Given the description of an element on the screen output the (x, y) to click on. 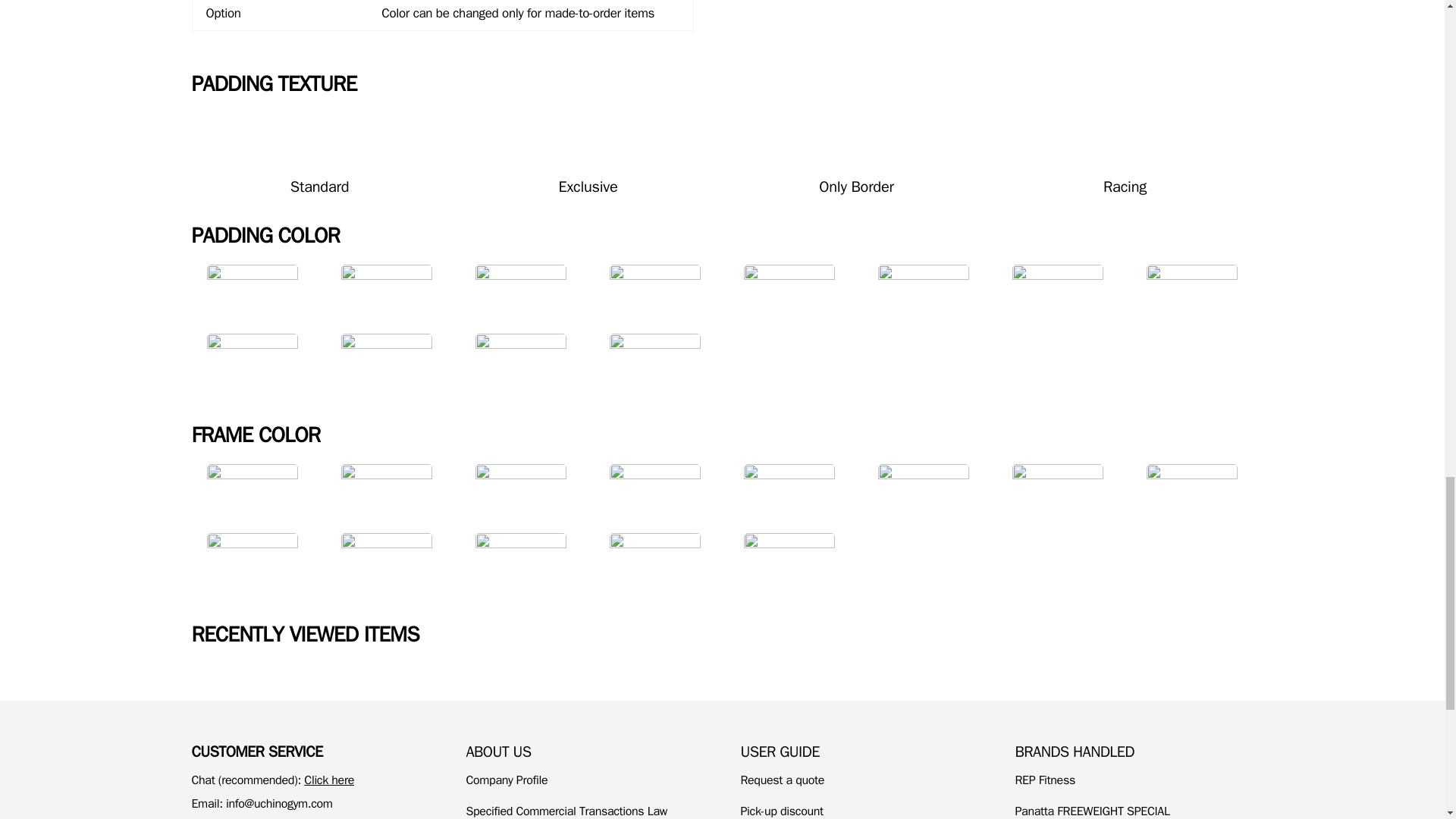
Request a quote (781, 780)
Panatta FREEWEIGHT SPECIAL (1091, 811)
REP Fitness (1044, 780)
Specified Commercial Transactions Law (565, 811)
Pick-up discount (780, 811)
Company Profile (506, 780)
